Given the description of an element on the screen output the (x, y) to click on. 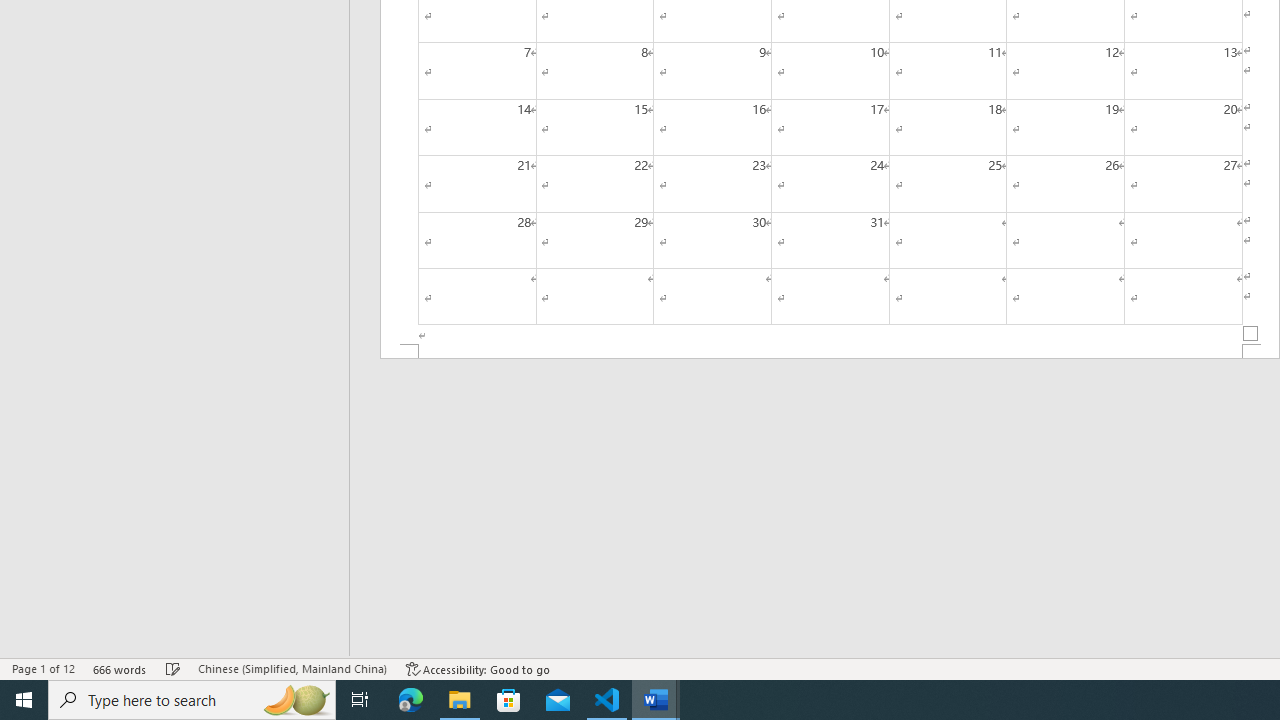
Word Count 666 words (119, 668)
